Given the description of an element on the screen output the (x, y) to click on. 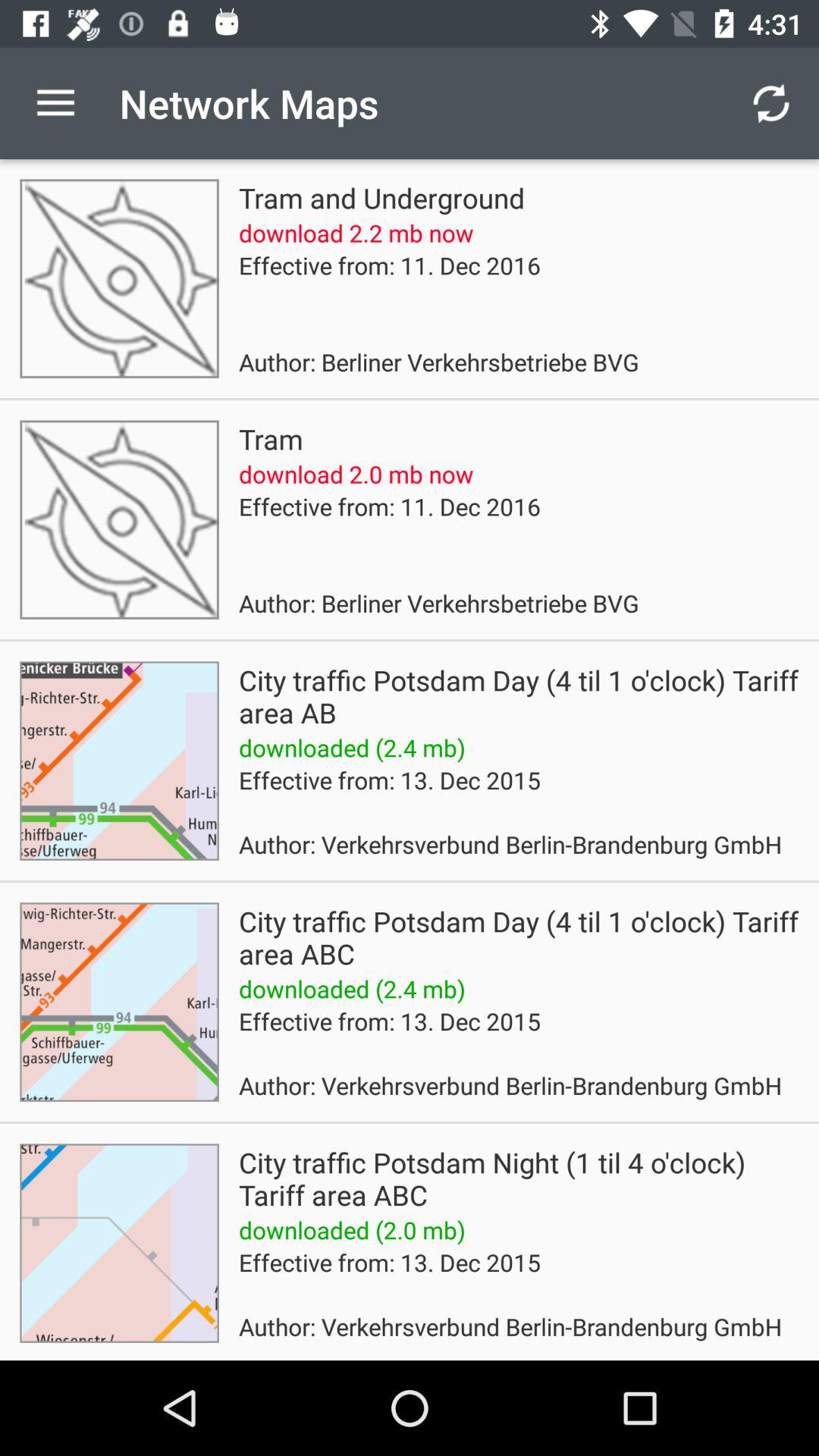
press the icon at the top right corner (771, 103)
